Given the description of an element on the screen output the (x, y) to click on. 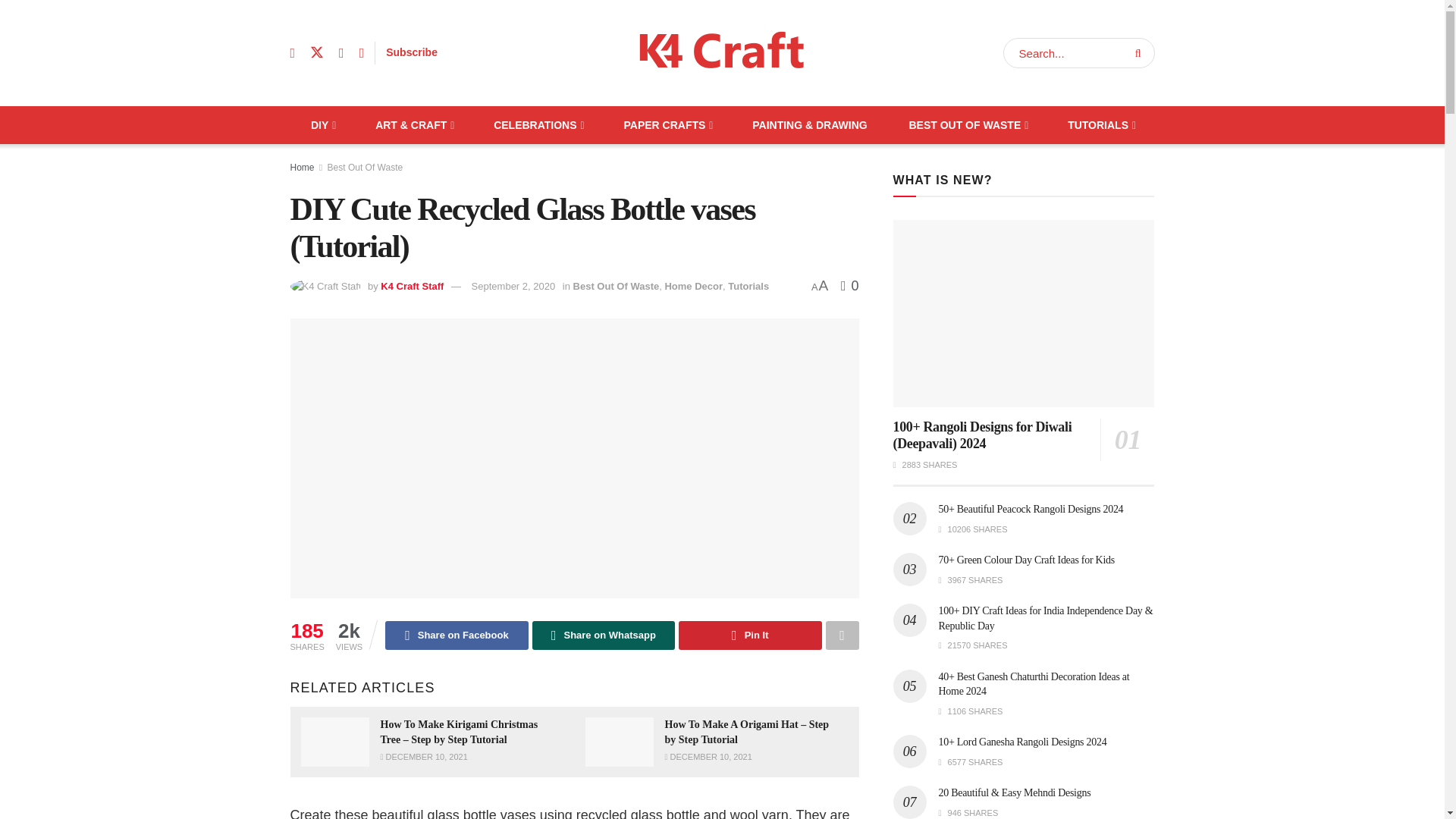
BEST OUT OF WASTE (967, 125)
Subscribe (411, 51)
CELEBRATIONS (537, 125)
TUTORIALS (1100, 125)
DIY (321, 125)
PAPER CRAFTS (667, 125)
